Given the description of an element on the screen output the (x, y) to click on. 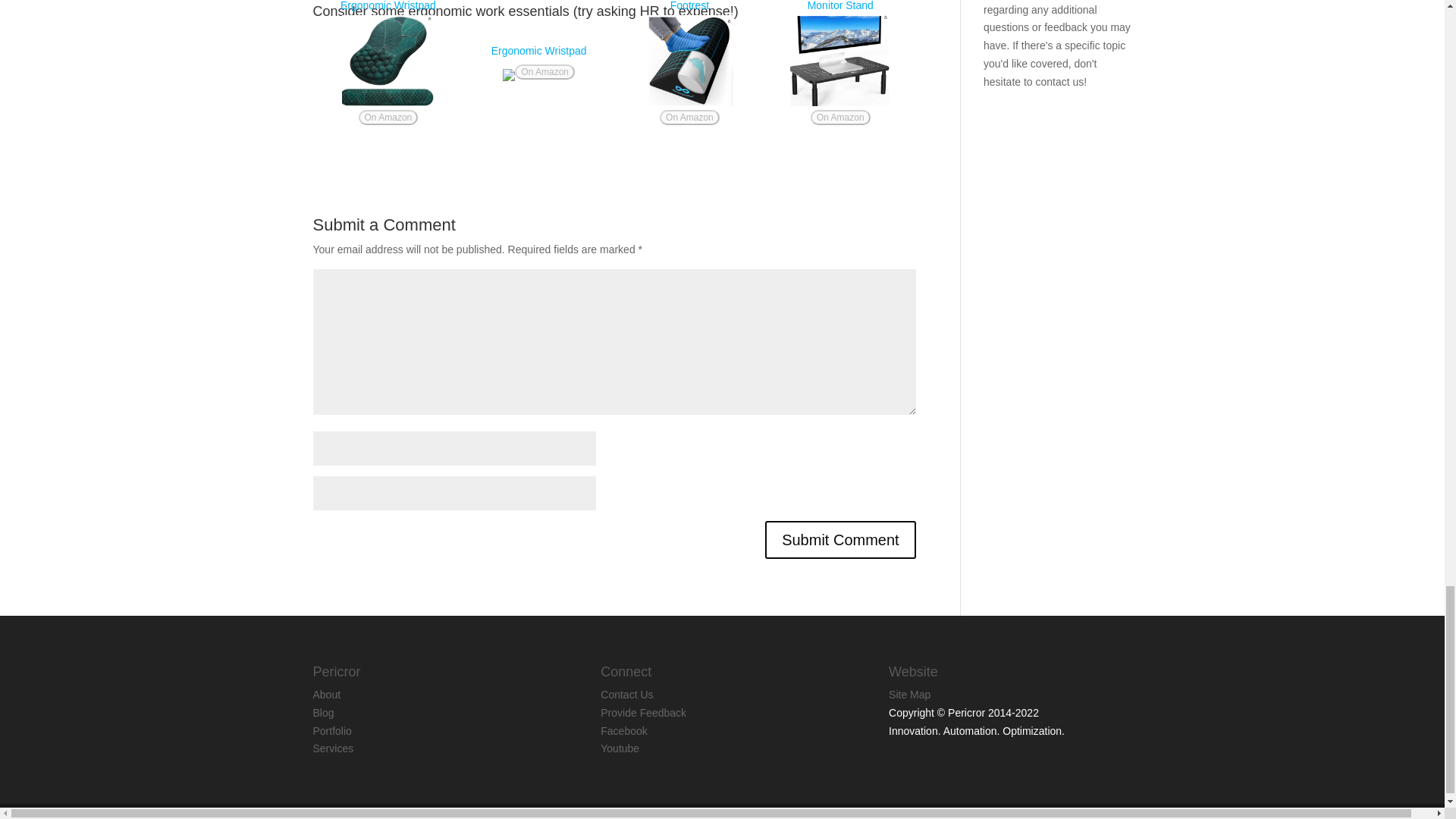
Submit Comment (840, 539)
